Given the description of an element on the screen output the (x, y) to click on. 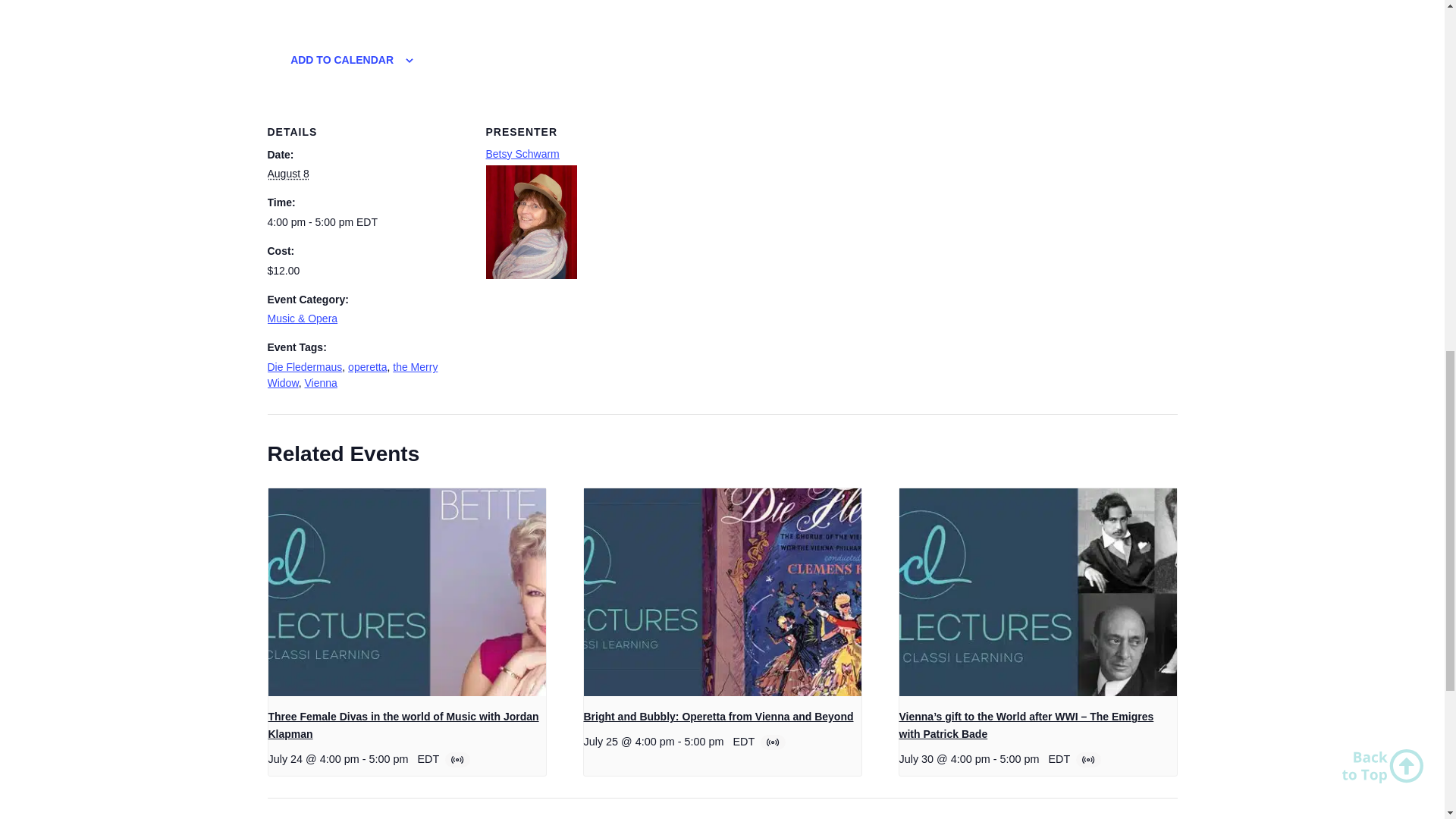
Betsy Schwarm (521, 153)
Virtual Event (774, 742)
Virtual Event (1089, 759)
2024-08-08 (287, 173)
Virtual Event (458, 759)
2024-08-08 (366, 222)
